Given the description of an element on the screen output the (x, y) to click on. 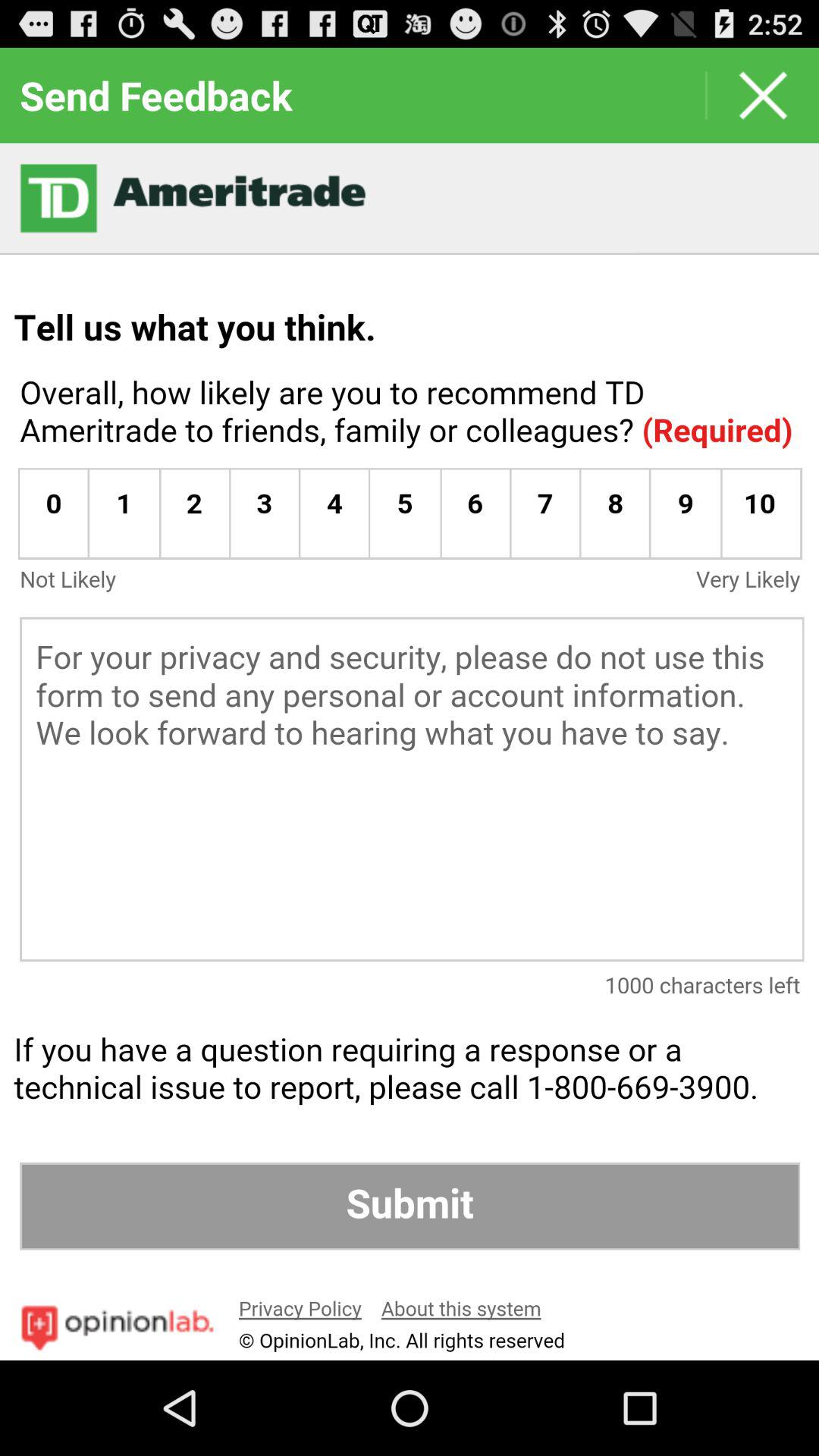
close page (763, 95)
